Given the description of an element on the screen output the (x, y) to click on. 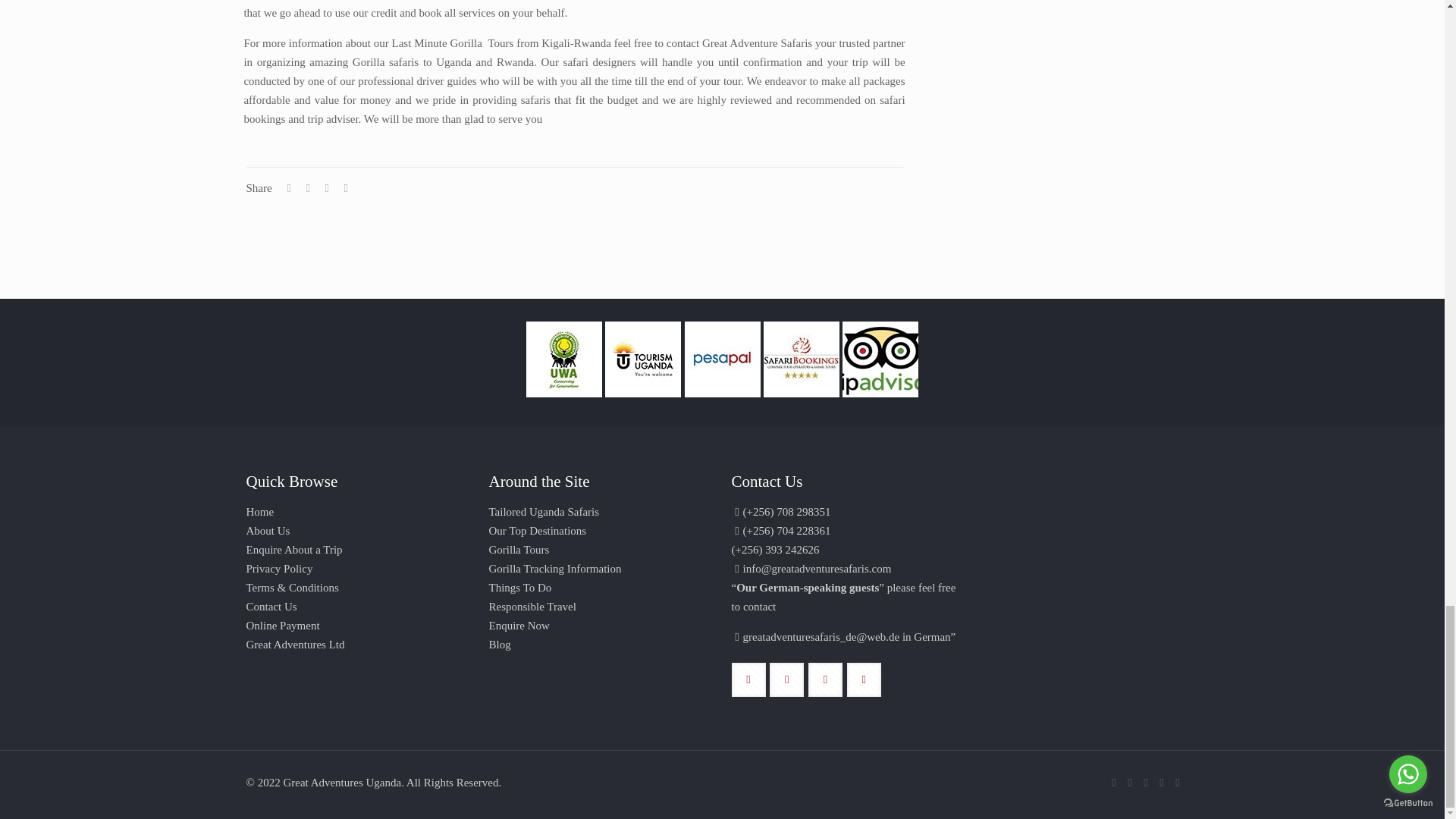
Facebook (1129, 782)
Instagram (1161, 782)
WhatsApp (1113, 782)
